Given the description of an element on the screen output the (x, y) to click on. 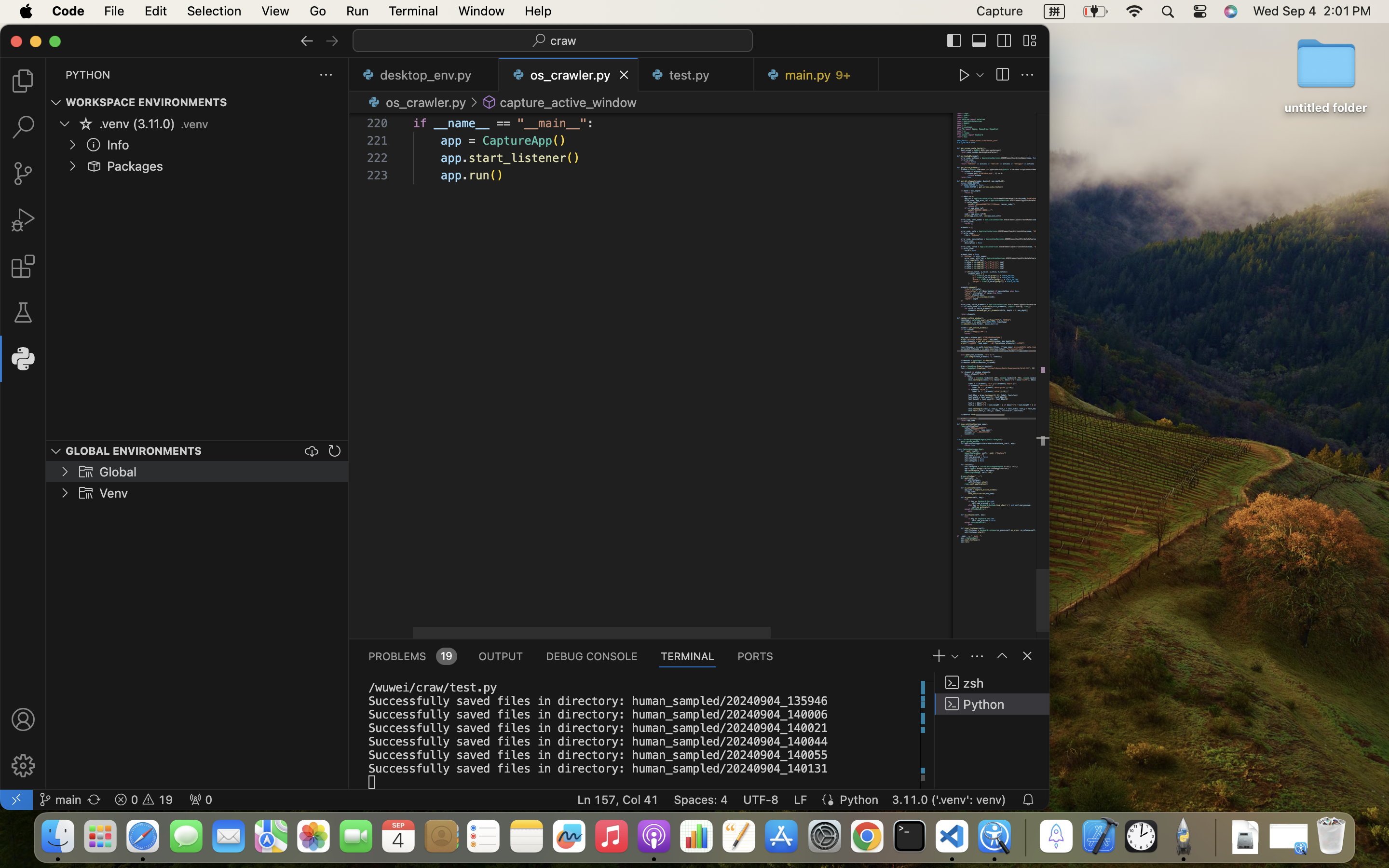
0 desktop_env.py   Element type: AXRadioButton (424, 74)
 Element type: AXStaticText (473, 101)
0 PORTS Element type: AXRadioButton (755, 655)
 0 Element type: AXButton (200, 799)
 Element type: AXGroup (964, 74)
